Given the description of an element on the screen output the (x, y) to click on. 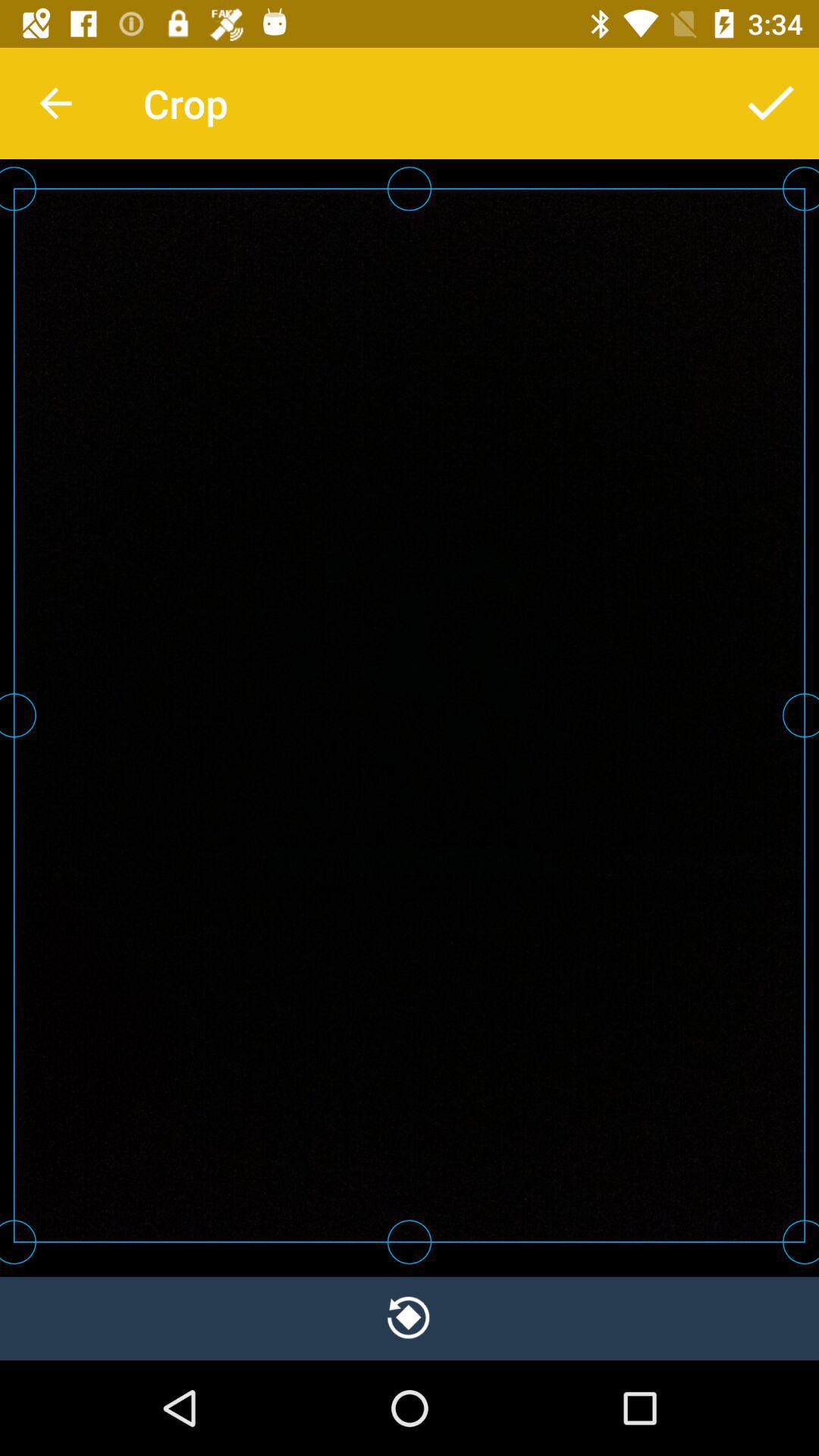
click item to the right of crop icon (771, 103)
